Given the description of an element on the screen output the (x, y) to click on. 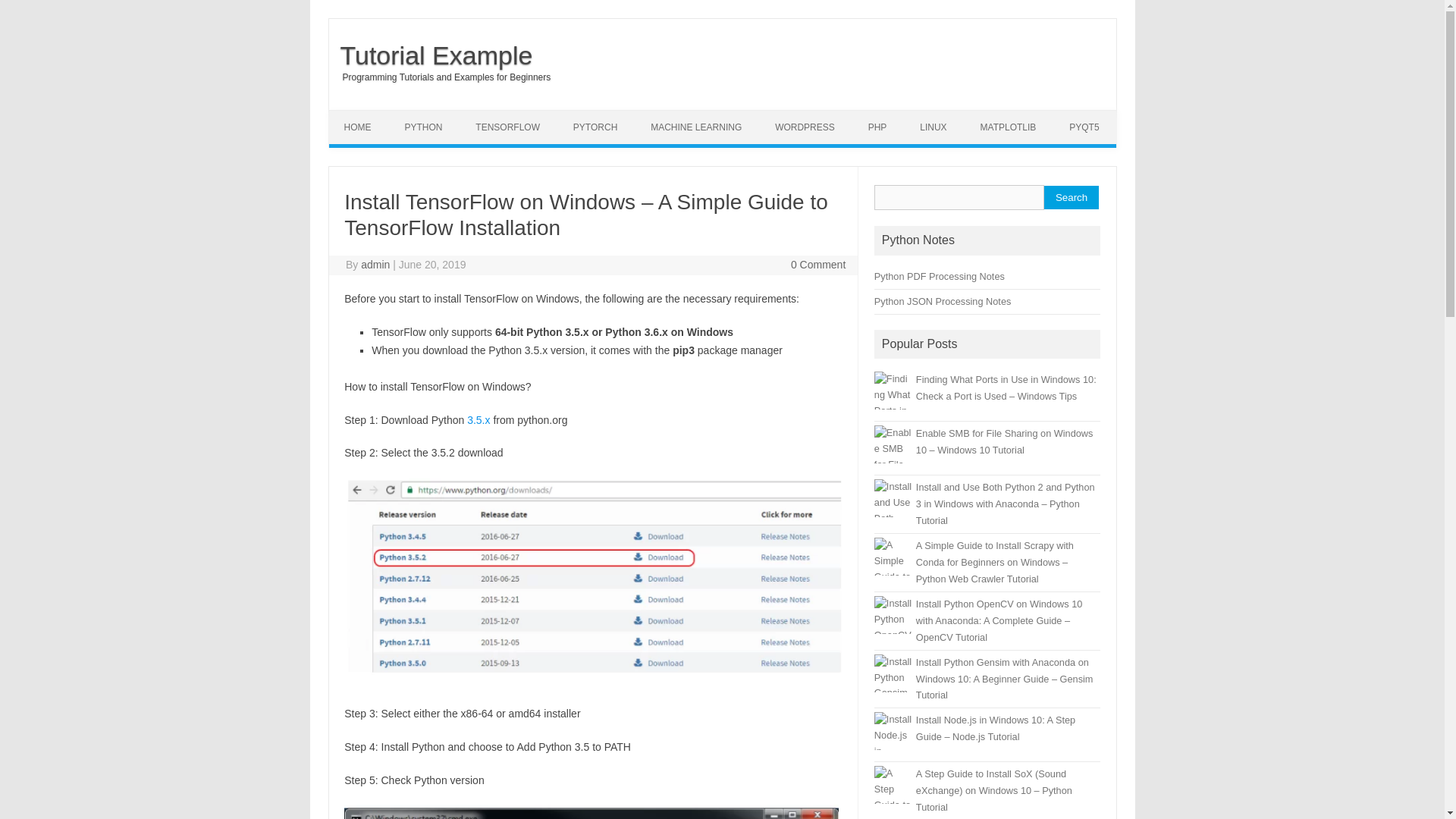
PYTHON (422, 127)
PHP (877, 127)
TENSORFLOW (507, 127)
MATPLOTLIB (1008, 127)
Python JSON Processing Notes (942, 301)
Search (1070, 197)
Posts by admin (375, 264)
admin (375, 264)
0 Comment (817, 264)
Skip to content (363, 114)
